Given the description of an element on the screen output the (x, y) to click on. 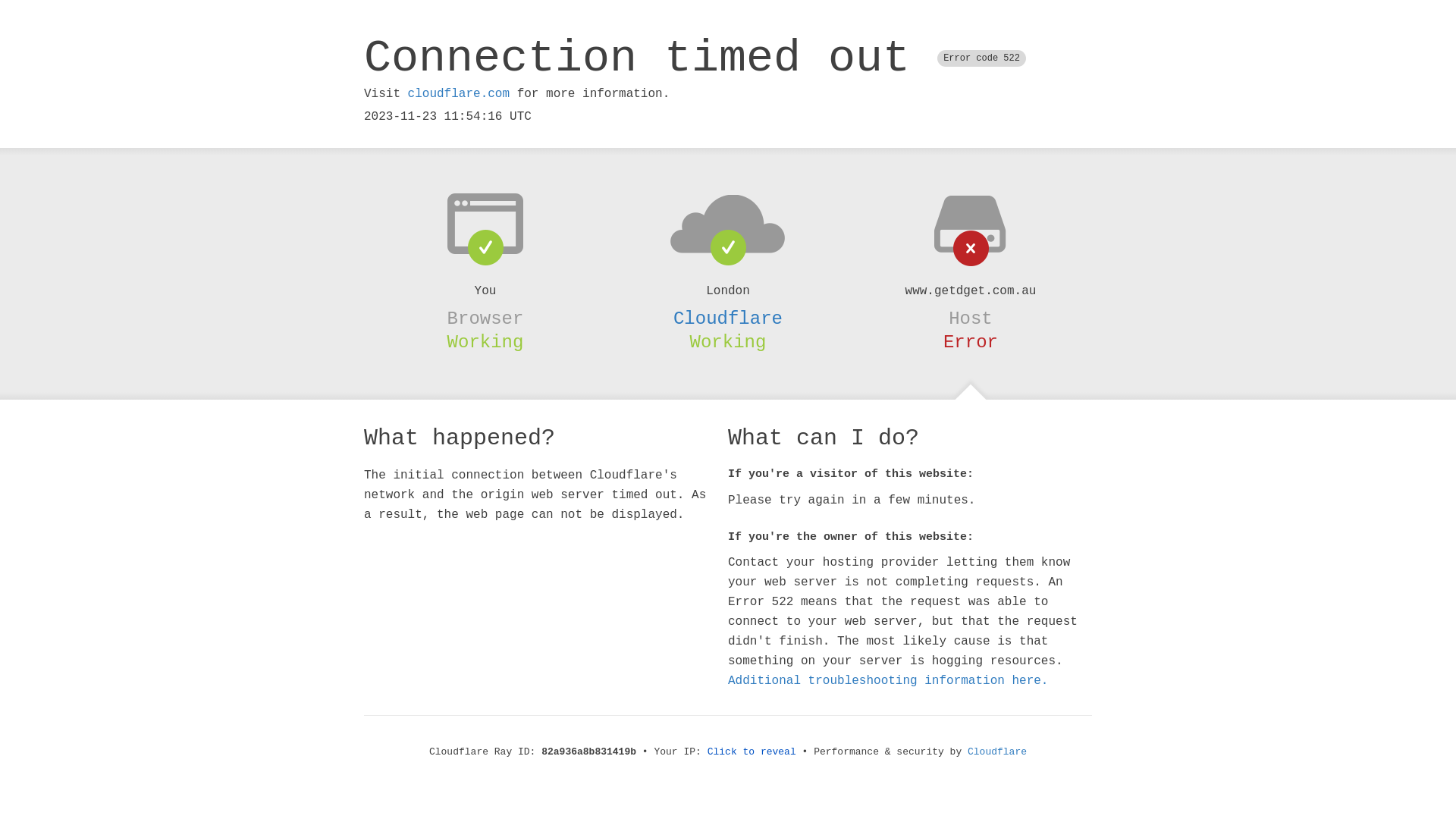
Cloudflare Element type: text (996, 751)
Additional troubleshooting information here. Element type: text (888, 680)
Click to reveal Element type: text (751, 751)
Cloudflare Element type: text (727, 318)
cloudflare.com Element type: text (458, 93)
